Given the description of an element on the screen output the (x, y) to click on. 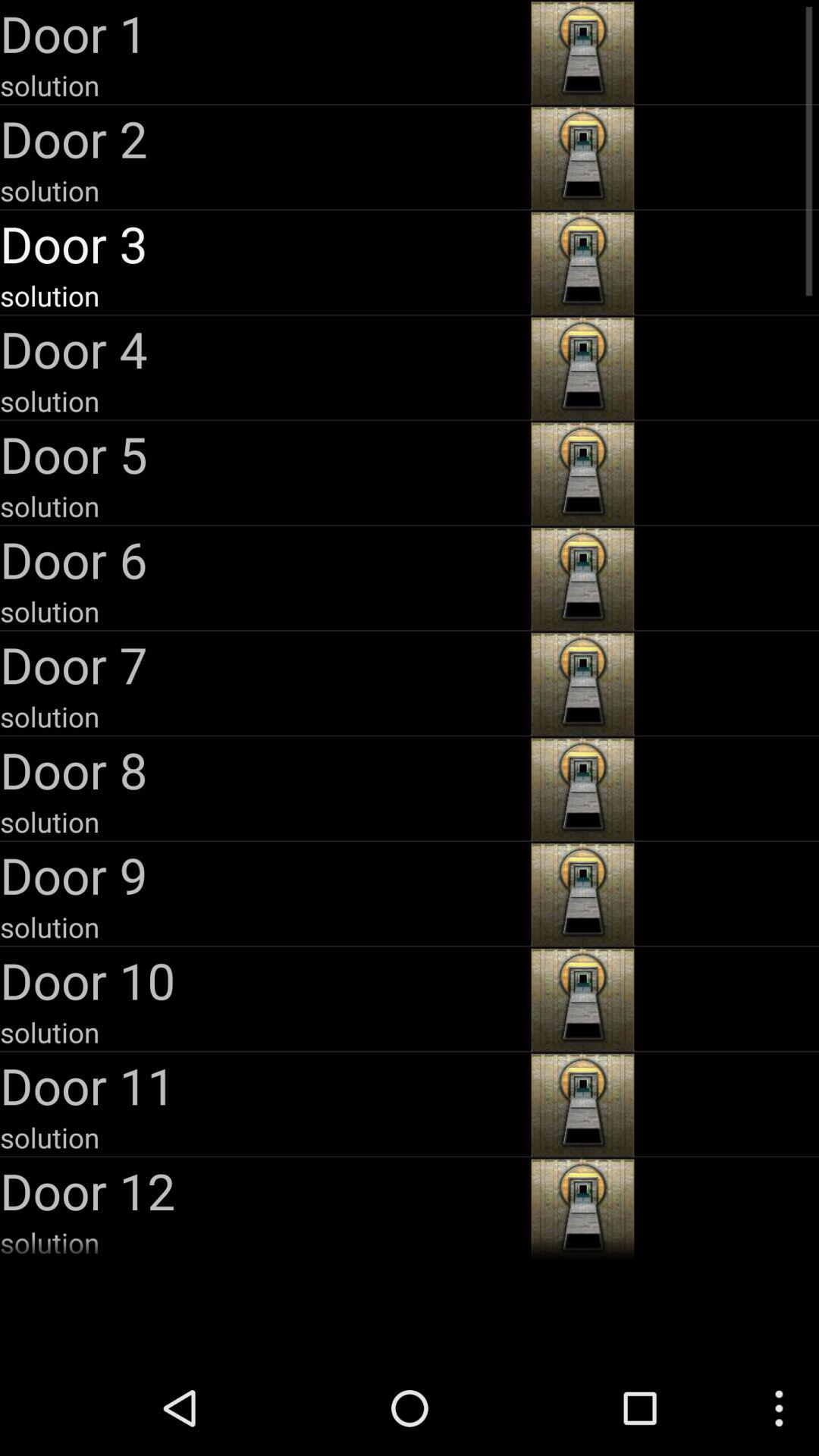
turn off app below the solution app (263, 1190)
